Given the description of an element on the screen output the (x, y) to click on. 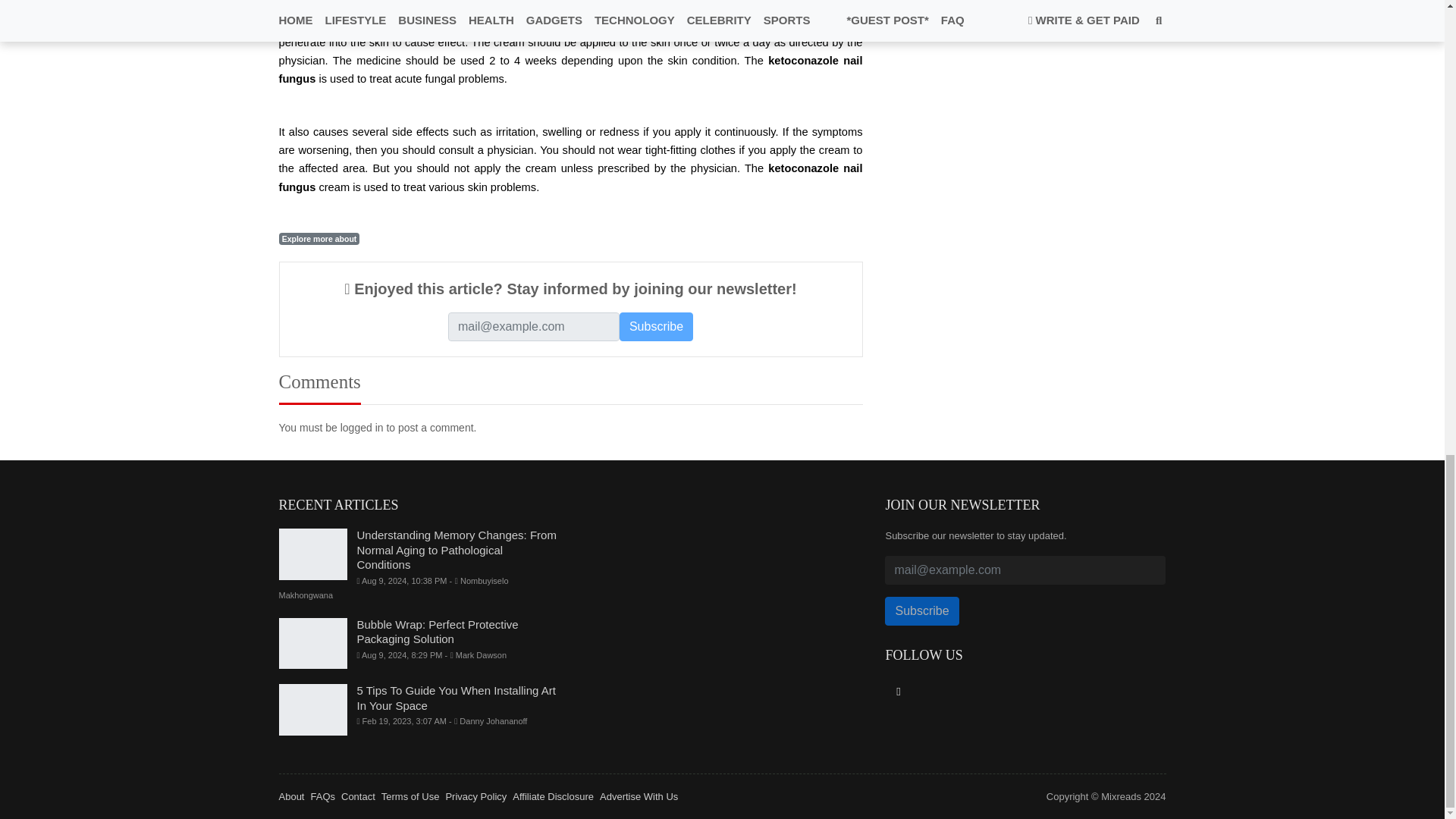
5 Tips To Guide You When Installing Art In Your Space (313, 709)
Subscribe (921, 611)
Subscribe (656, 326)
Diabetes prevention: 5 tips for taking control (919, 3)
Subscribe (656, 326)
Bubble Wrap: Perfect Protective Packaging Solution (313, 643)
Twitter (898, 691)
